Given the description of an element on the screen output the (x, y) to click on. 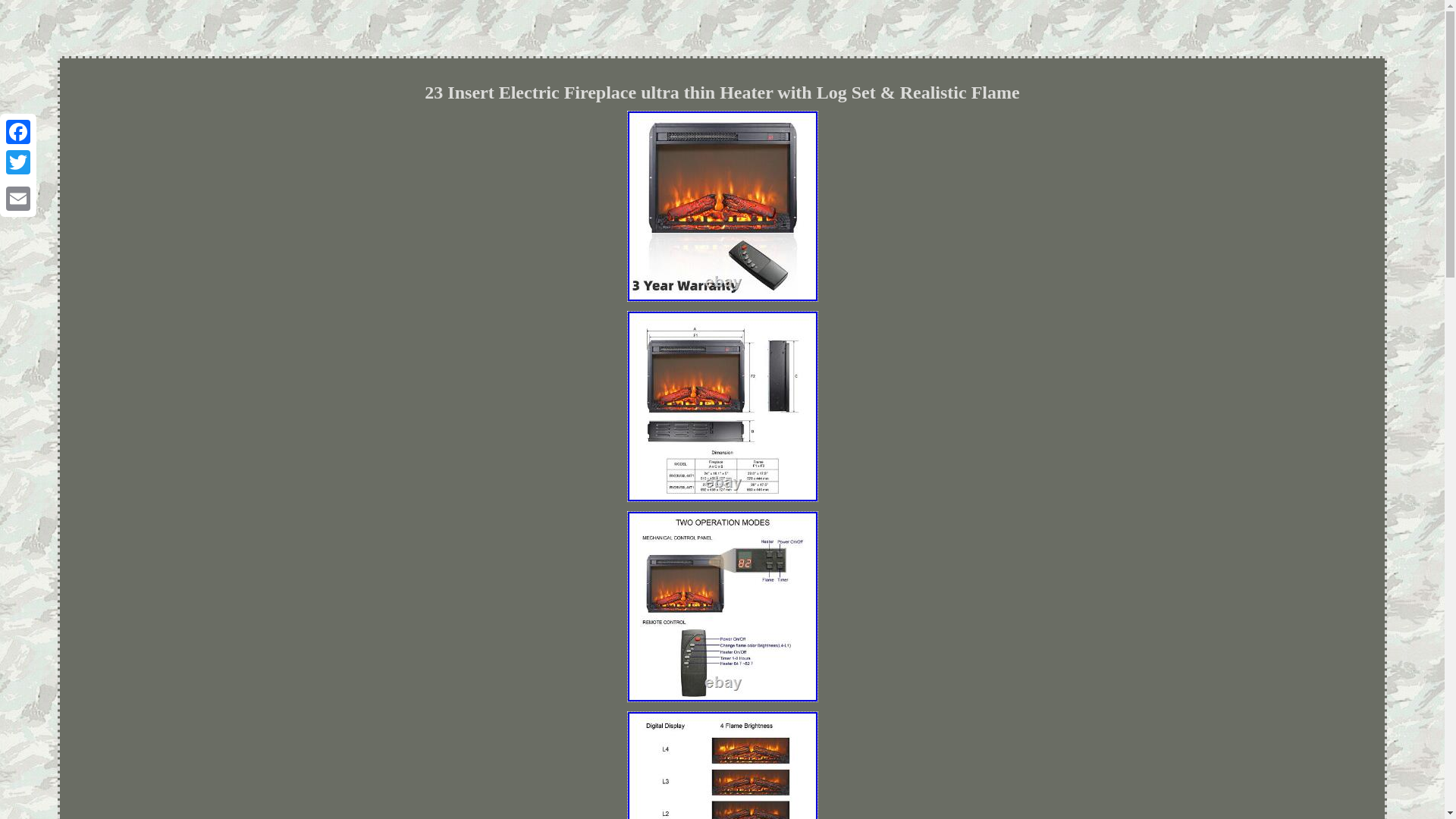
Email (17, 198)
Facebook (17, 132)
Twitter (17, 162)
